Given the description of an element on the screen output the (x, y) to click on. 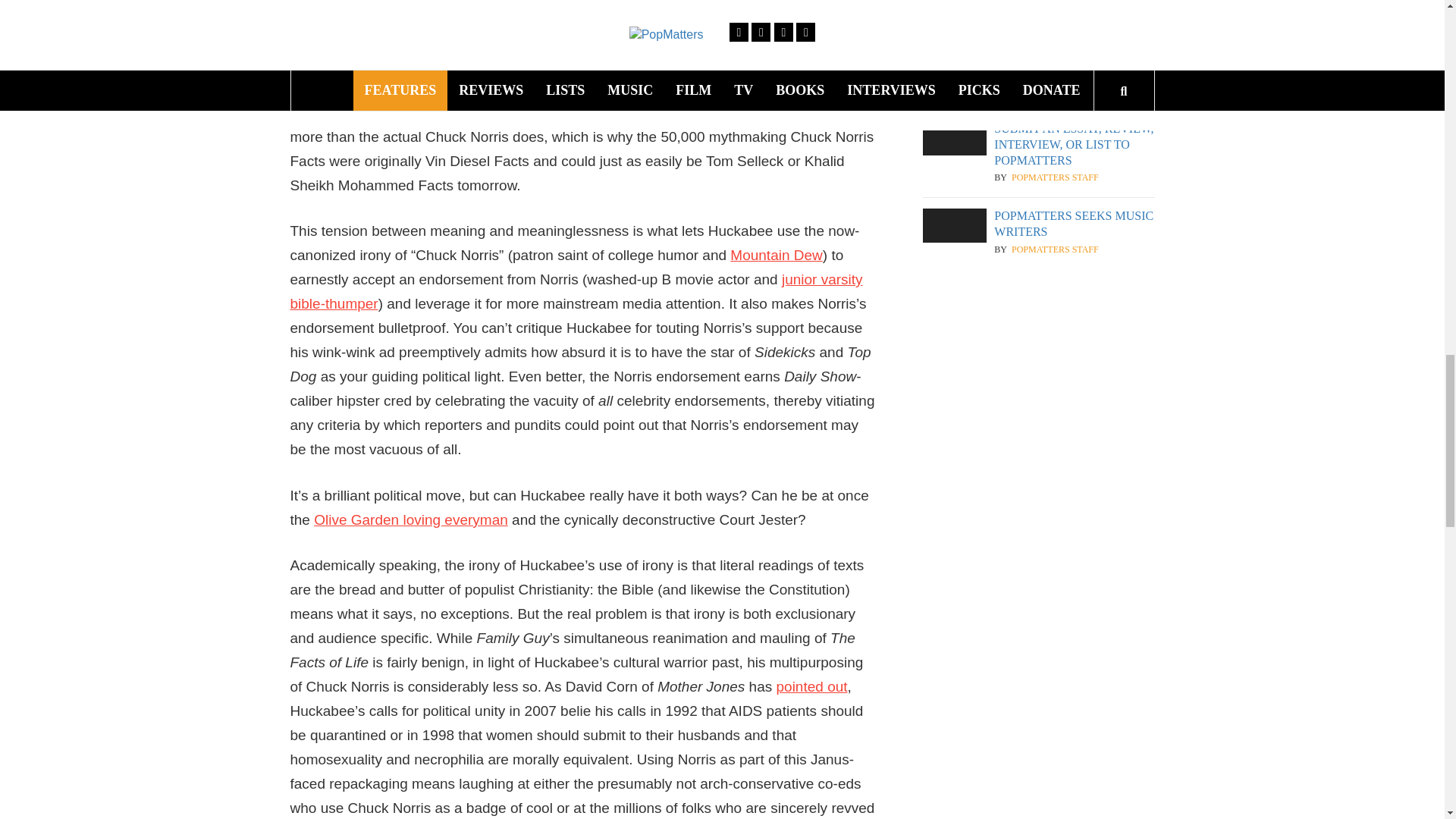
Olive Garden loving everyman (411, 519)
Karen Zarker (1046, 4)
junior varsity bible-thumper (575, 291)
PopMatters Staff (1055, 177)
Karen Zarker (1046, 90)
pointed out (811, 686)
Mountain Dew (776, 254)
PopMatters Staff (1055, 249)
